Given the description of an element on the screen output the (x, y) to click on. 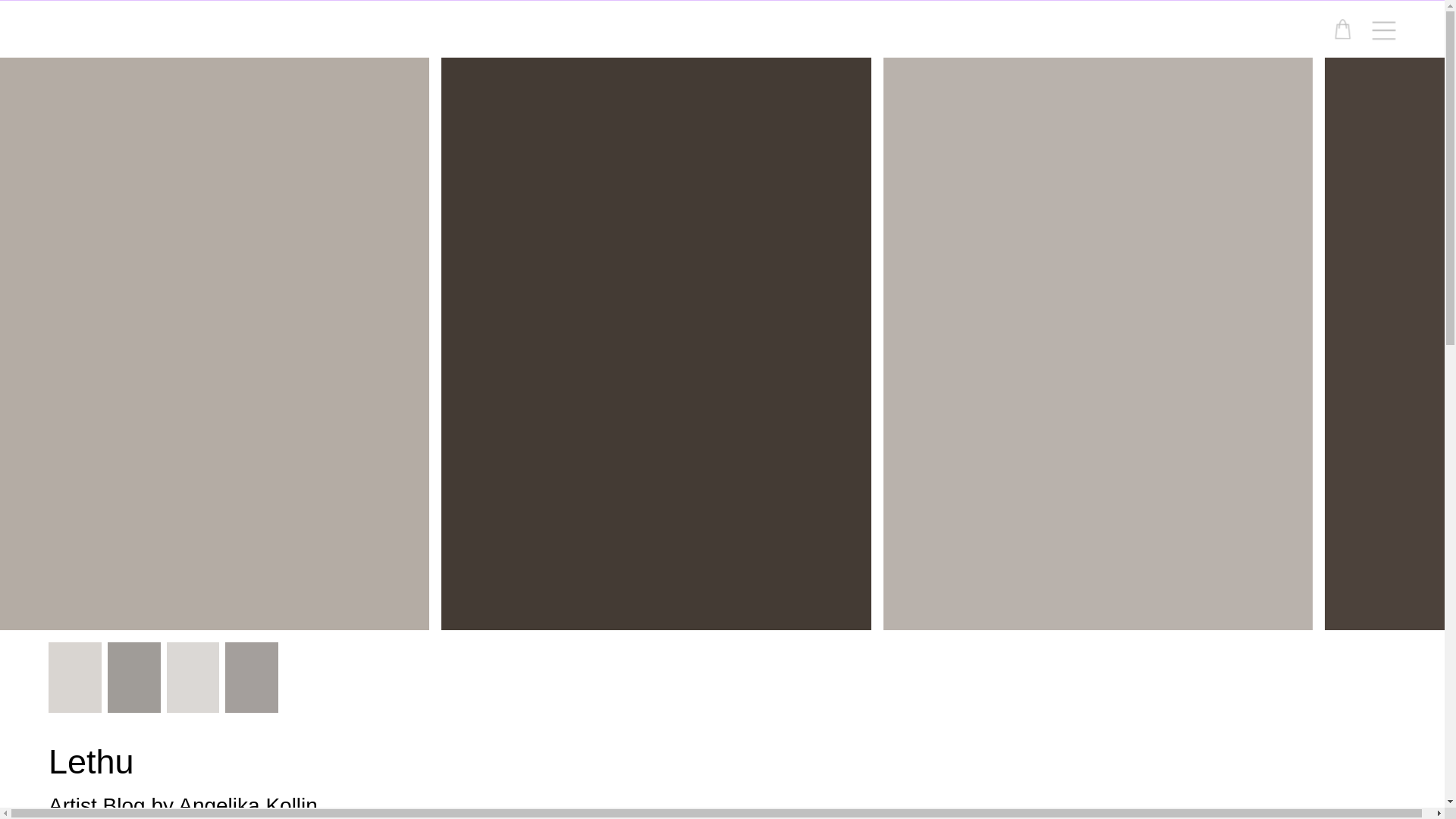
Angelika Kollin (247, 805)
Artist Blog (96, 805)
